Given the description of an element on the screen output the (x, y) to click on. 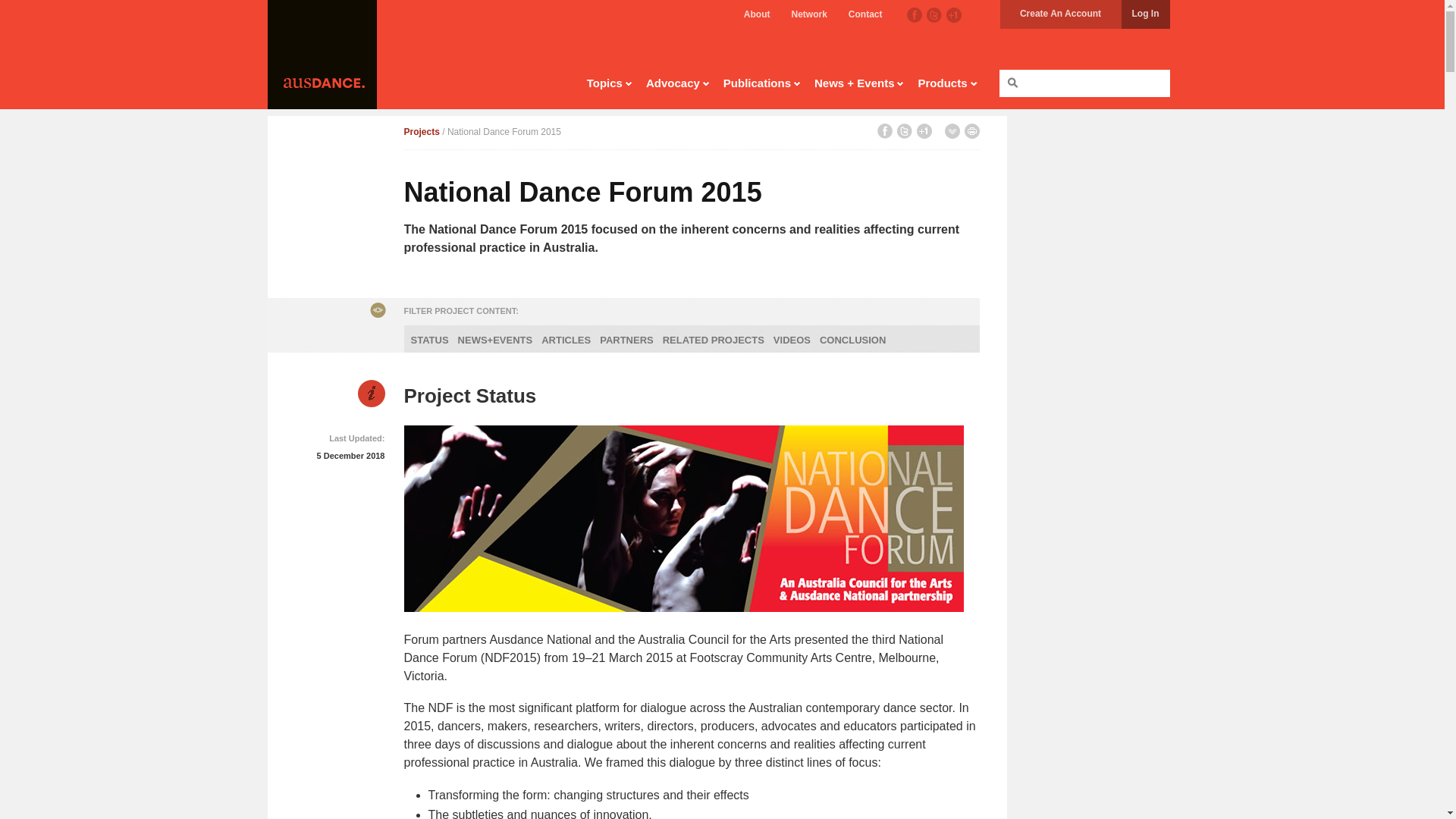
Topics Element type: text (609, 86)
CONCLUSION Element type: text (852, 340)
Follow us on Twitter Element type: hover (933, 14)
Share this on Facebook Element type: text (883, 130)
ARTICLES Element type: text (566, 340)
Log In Element type: text (1144, 14)
Follow us on Facebook Element type: hover (914, 14)
Create An Account Element type: text (1059, 14)
About Element type: text (757, 14)
Publications Element type: text (761, 86)
Contact Element type: text (865, 14)
Google Plus Element type: text (923, 130)
Projects Element type: text (421, 131)
News + Events Element type: text (858, 86)
Network Element type: text (808, 14)
Ausdance Element type: hover (321, 54)
Advocacy Element type: text (677, 86)
Follow us on Google Plus Element type: hover (953, 14)
PARTNERS Element type: text (626, 340)
VIDEOS Element type: text (791, 340)
STATUS Element type: text (428, 340)
Print Element type: text (971, 130)
RELATED PROJECTS Element type: text (713, 340)
Add to Favourite Element type: text (952, 130)
NEWS+EVENTS Element type: text (495, 340)
Products Element type: text (946, 86)
Share this on Twitter Element type: text (903, 130)
